Given the description of an element on the screen output the (x, y) to click on. 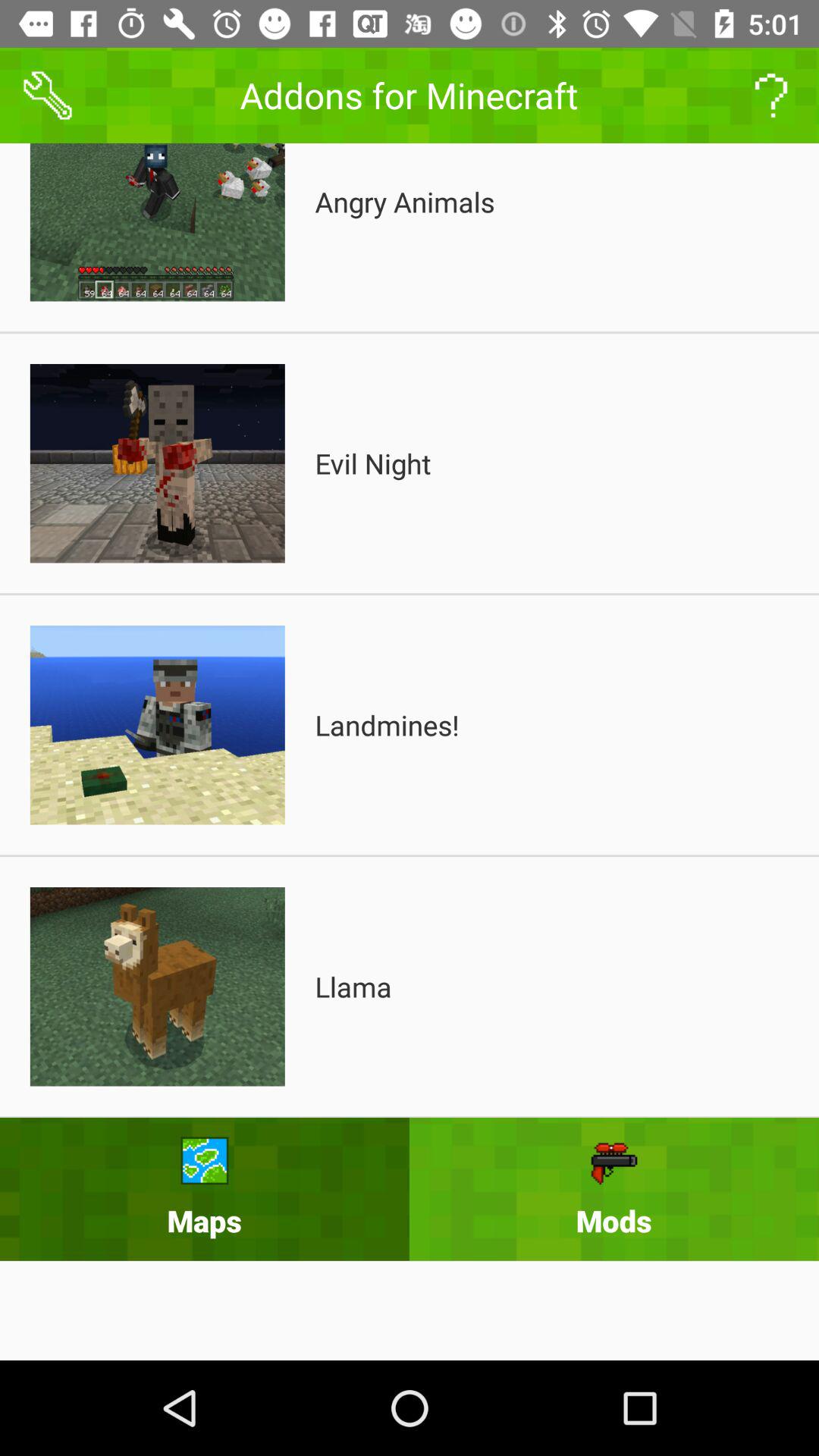
select the angry animals icon (404, 201)
